Given the description of an element on the screen output the (x, y) to click on. 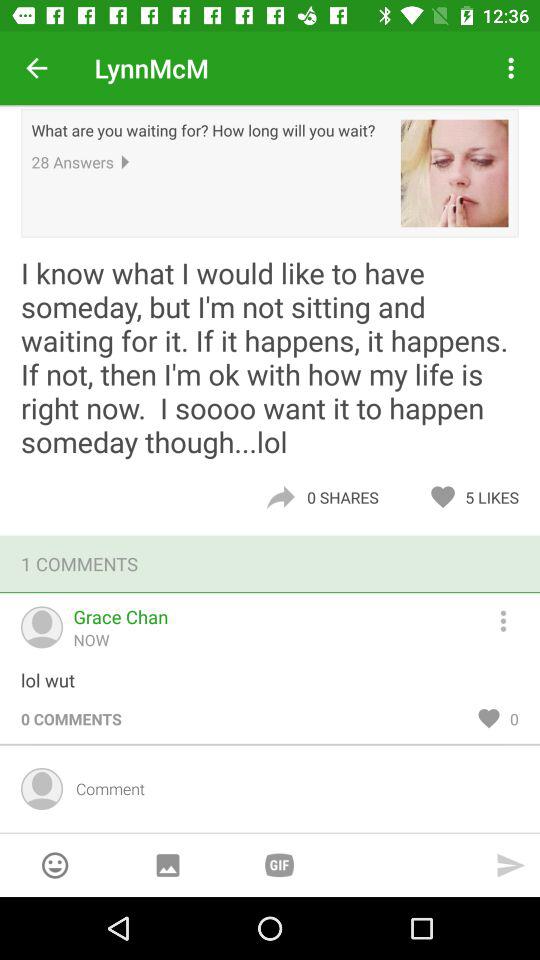
click icon next to the lynnmcm item (36, 68)
